Given the description of an element on the screen output the (x, y) to click on. 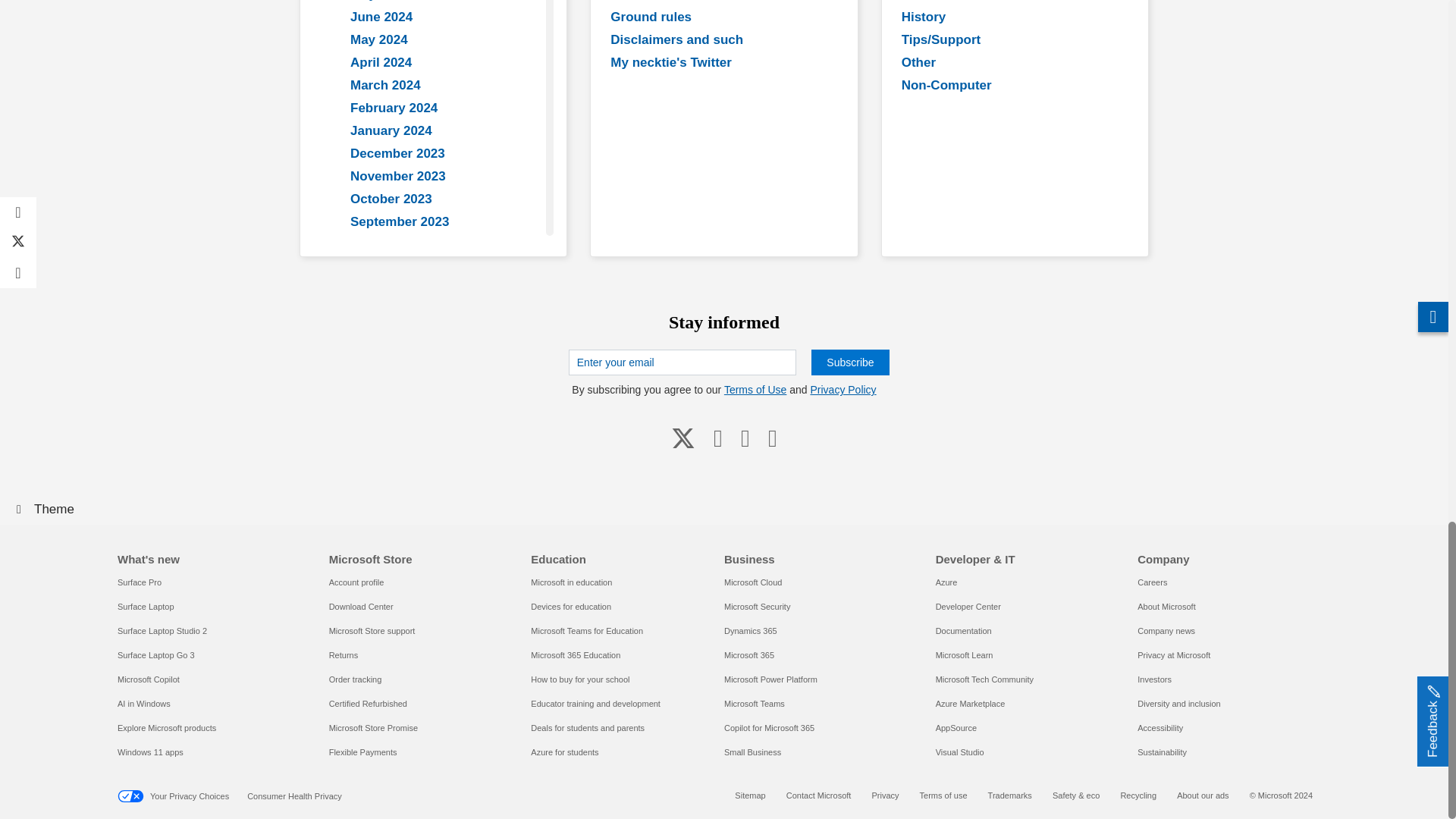
twitter (683, 437)
RSS Feed (772, 437)
youtube (718, 437)
GitHub (745, 437)
Subscribe (849, 362)
